Given the description of an element on the screen output the (x, y) to click on. 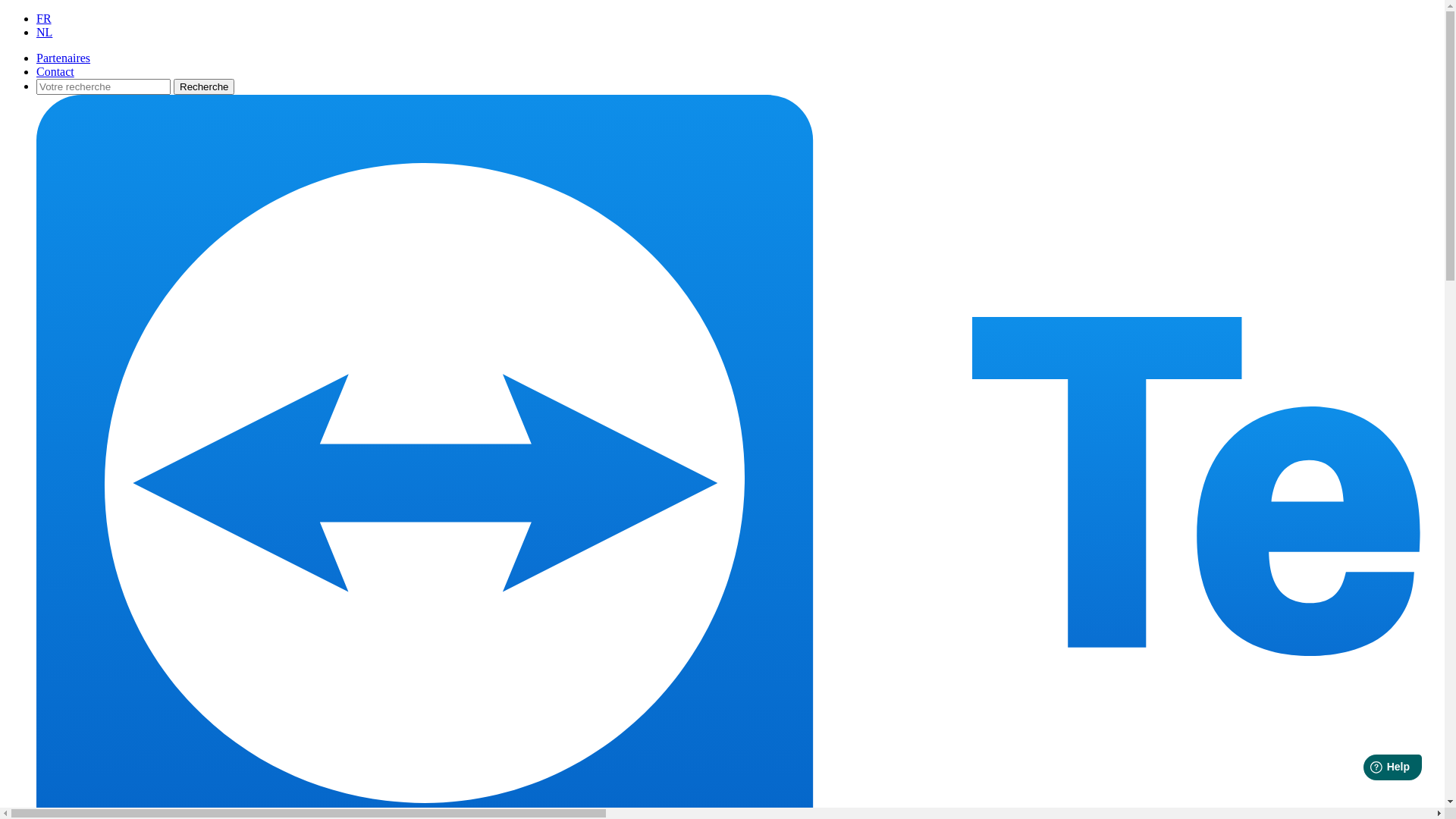
FR Element type: text (43, 18)
Recherche Element type: text (203, 86)
Partenaires Element type: text (63, 57)
NL Element type: text (44, 31)
Contact Element type: text (55, 71)
